Given the description of an element on the screen output the (x, y) to click on. 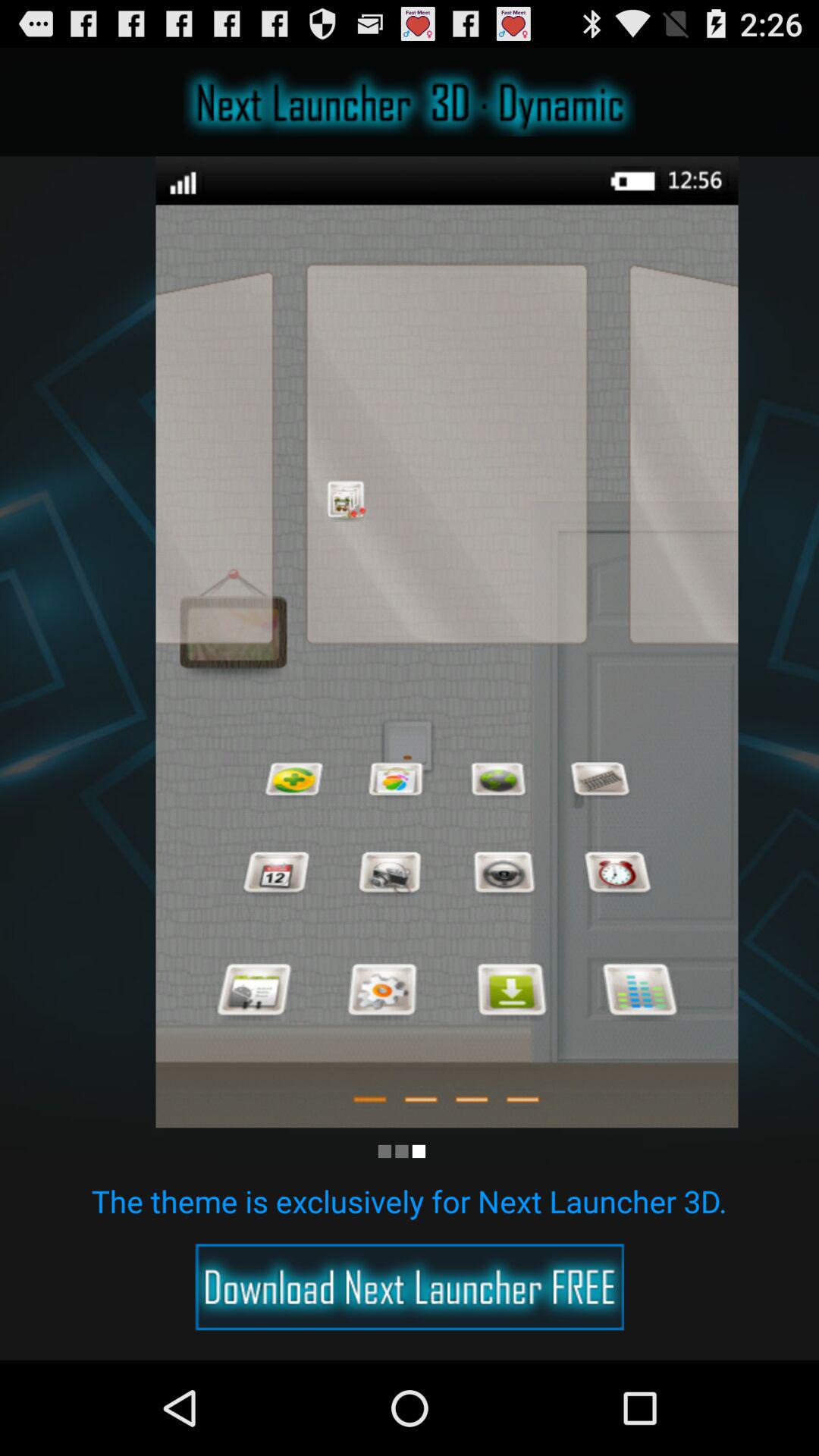
download launcher (409, 1286)
